Given the description of an element on the screen output the (x, y) to click on. 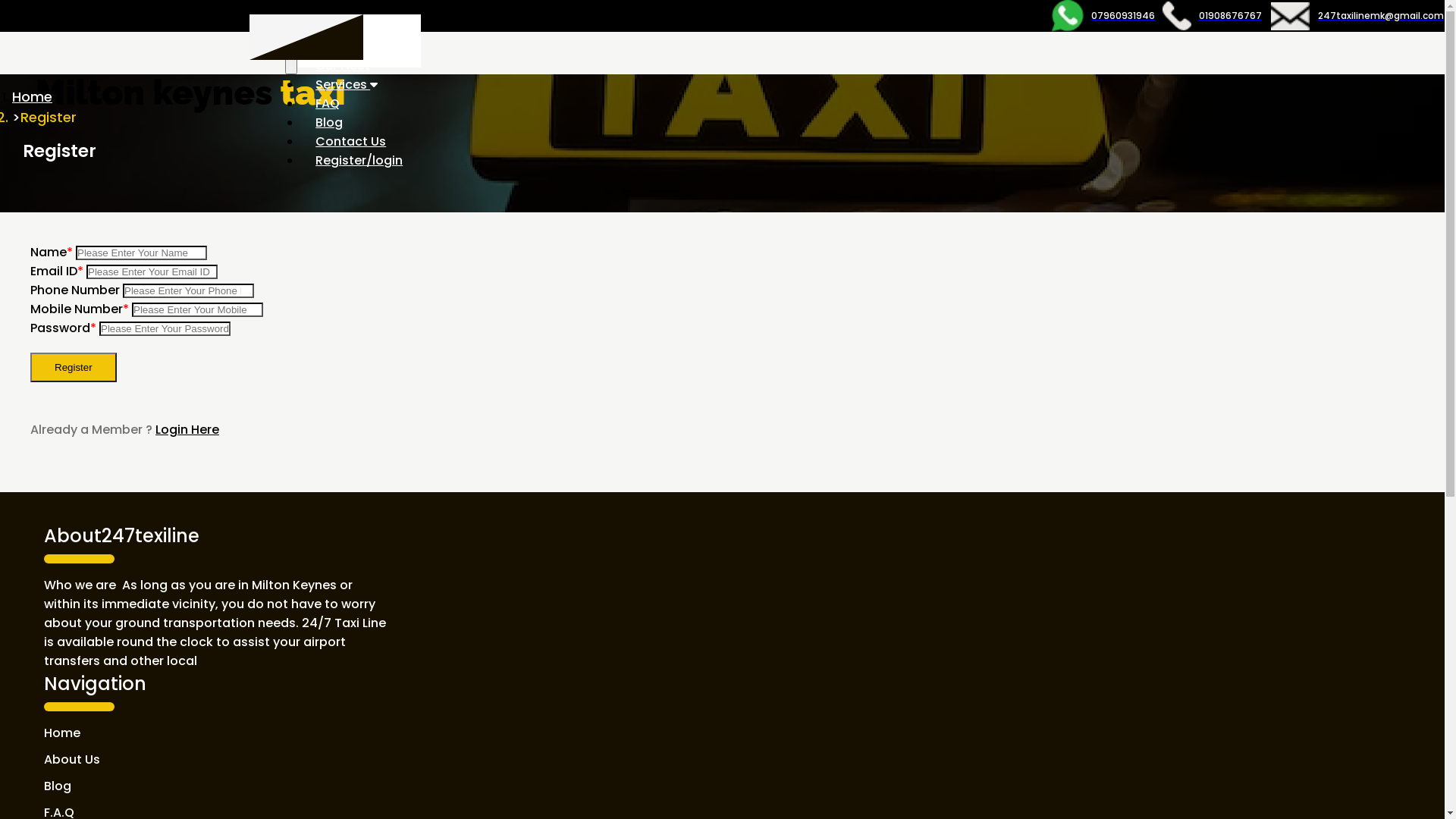
Contact Us Element type: text (350, 141)
Blog Element type: text (216, 785)
Services Element type: text (346, 84)
FAQ Element type: text (327, 103)
Home Element type: text (216, 732)
Login Here Element type: text (187, 429)
Our Fleet Element type: text (342, 65)
Home
(current) Element type: text (333, 27)
Register Element type: text (73, 367)
Register/login Element type: text (359, 160)
Blog Element type: text (329, 122)
About Us Element type: text (216, 758)
About Us Element type: text (343, 46)
Home Element type: text (32, 96)
